Given the description of an element on the screen output the (x, y) to click on. 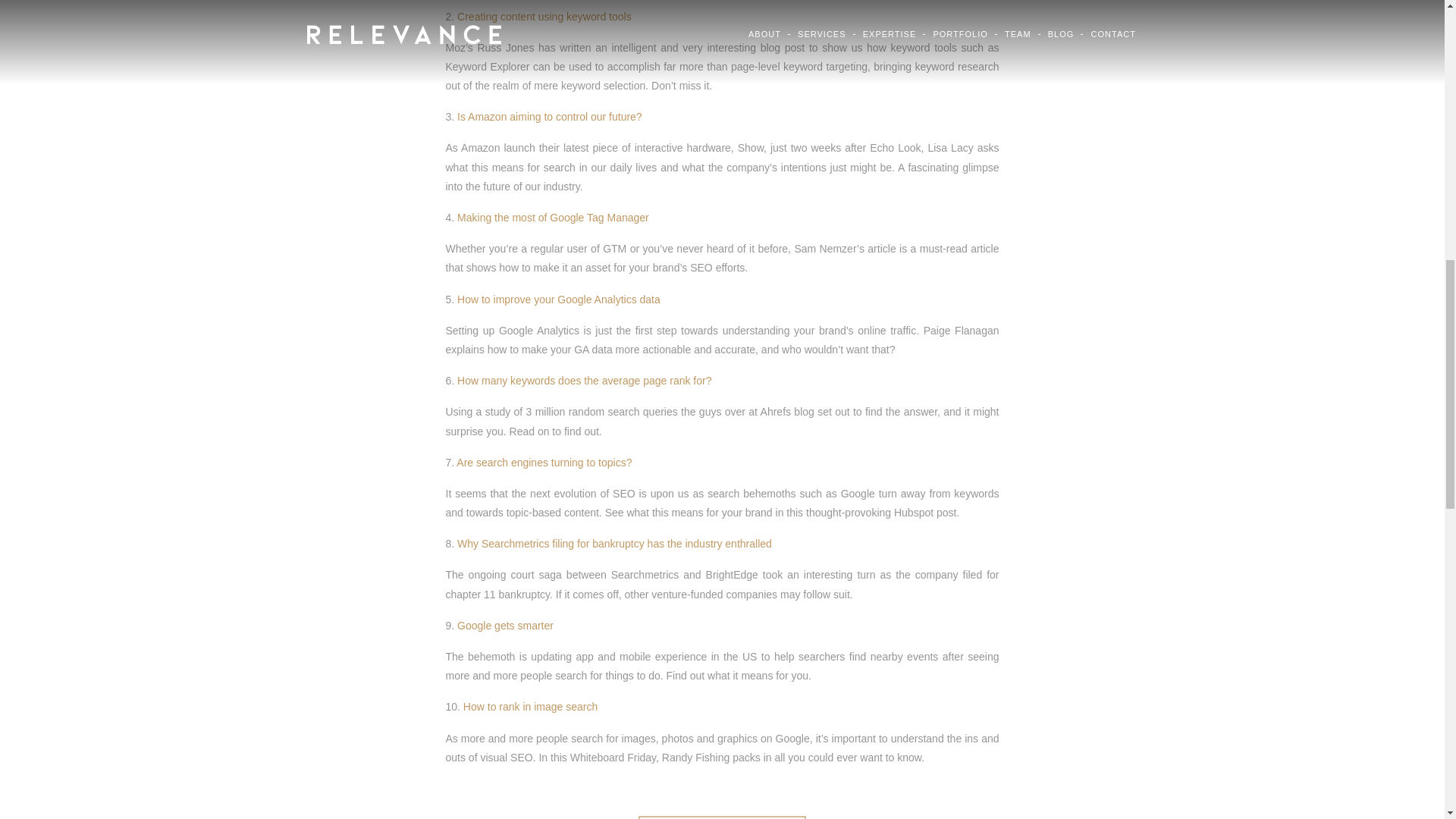
How many keywords does the average page rank for? (584, 380)
How to rank in image search (529, 706)
Is Amazon aiming to control our future? (549, 116)
Google gets smarter (505, 625)
Making the most of Google Tag Manager (553, 217)
Are search engines turning to topics? (544, 462)
Creating content using keyword tools (544, 16)
SHARE THIS (722, 817)
How to improve your Google Analytics data (559, 299)
